Given the description of an element on the screen output the (x, y) to click on. 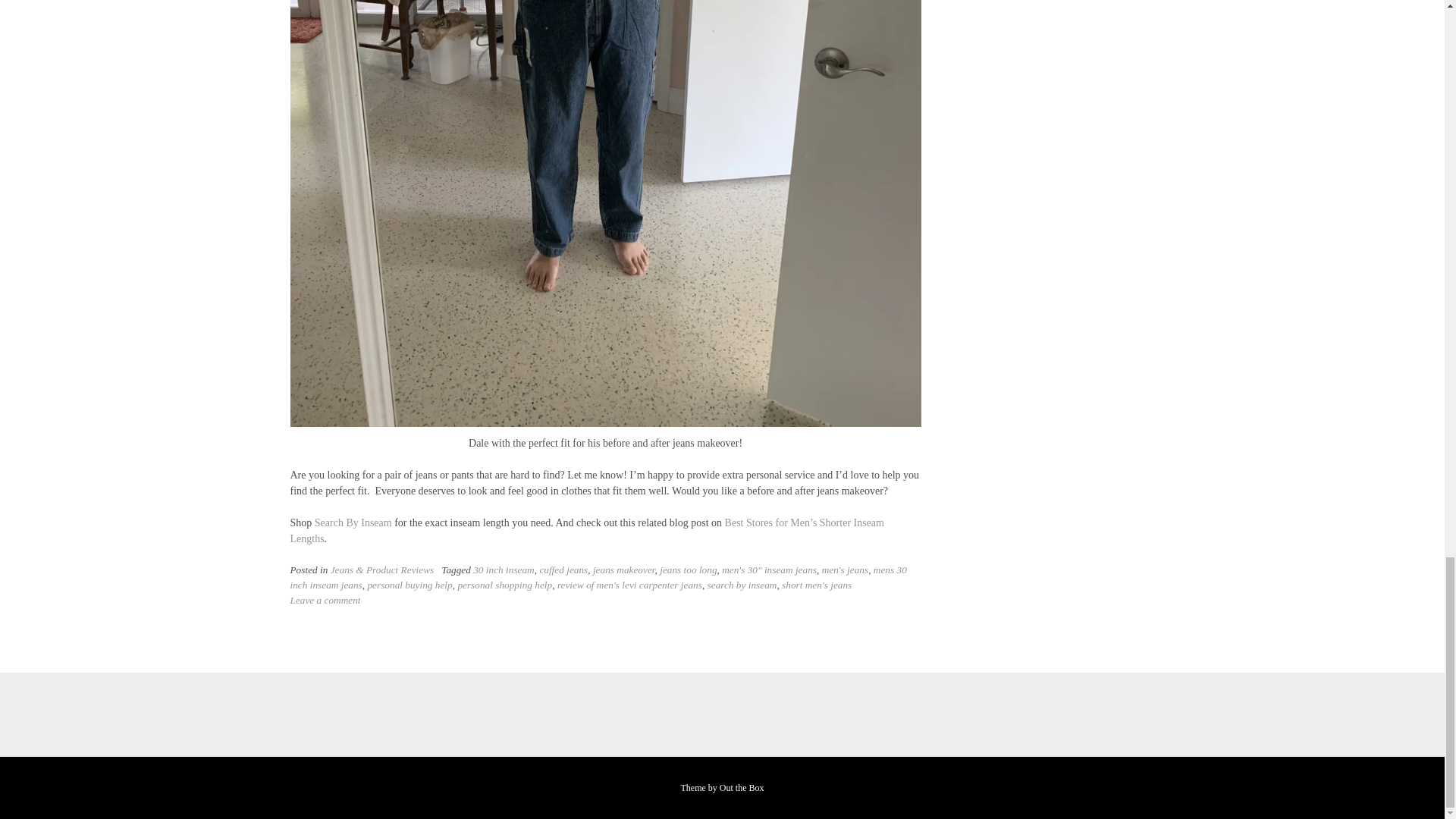
search by inseam (742, 584)
men's jeans (845, 569)
personal buying help (408, 584)
review of men's levi carpenter jeans (629, 584)
mens 30 inch inseam jeans (597, 577)
Leave a comment (324, 600)
men's 30" inseam jeans (769, 569)
cuffed jeans (563, 569)
Search By Inseam (352, 522)
personal shopping help (504, 584)
